Given the description of an element on the screen output the (x, y) to click on. 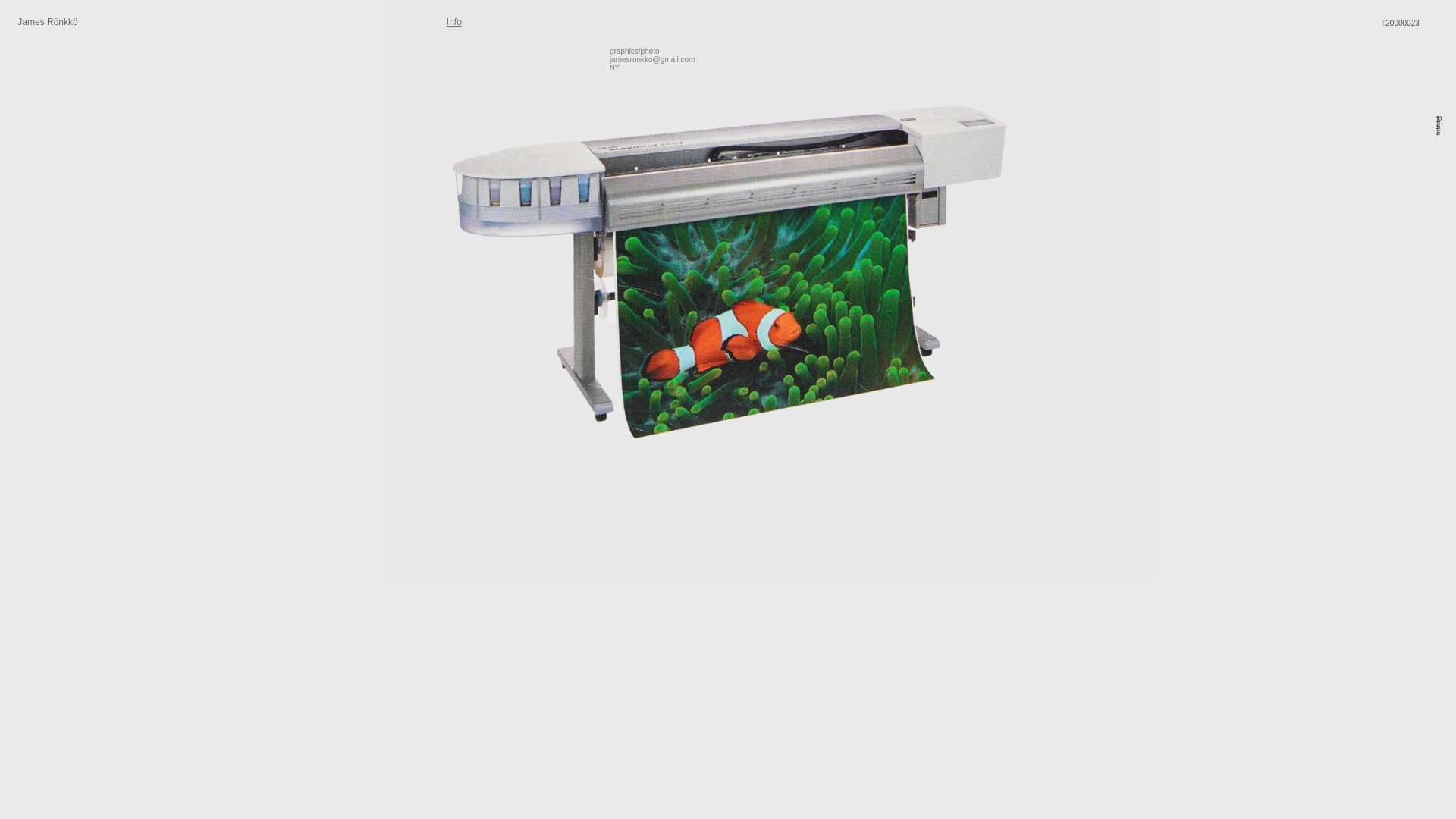
Prints Element type: text (1442, 120)
Info Element type: text (453, 22)
jamesronkko@gmail.com Element type: text (651, 59)
